Given the description of an element on the screen output the (x, y) to click on. 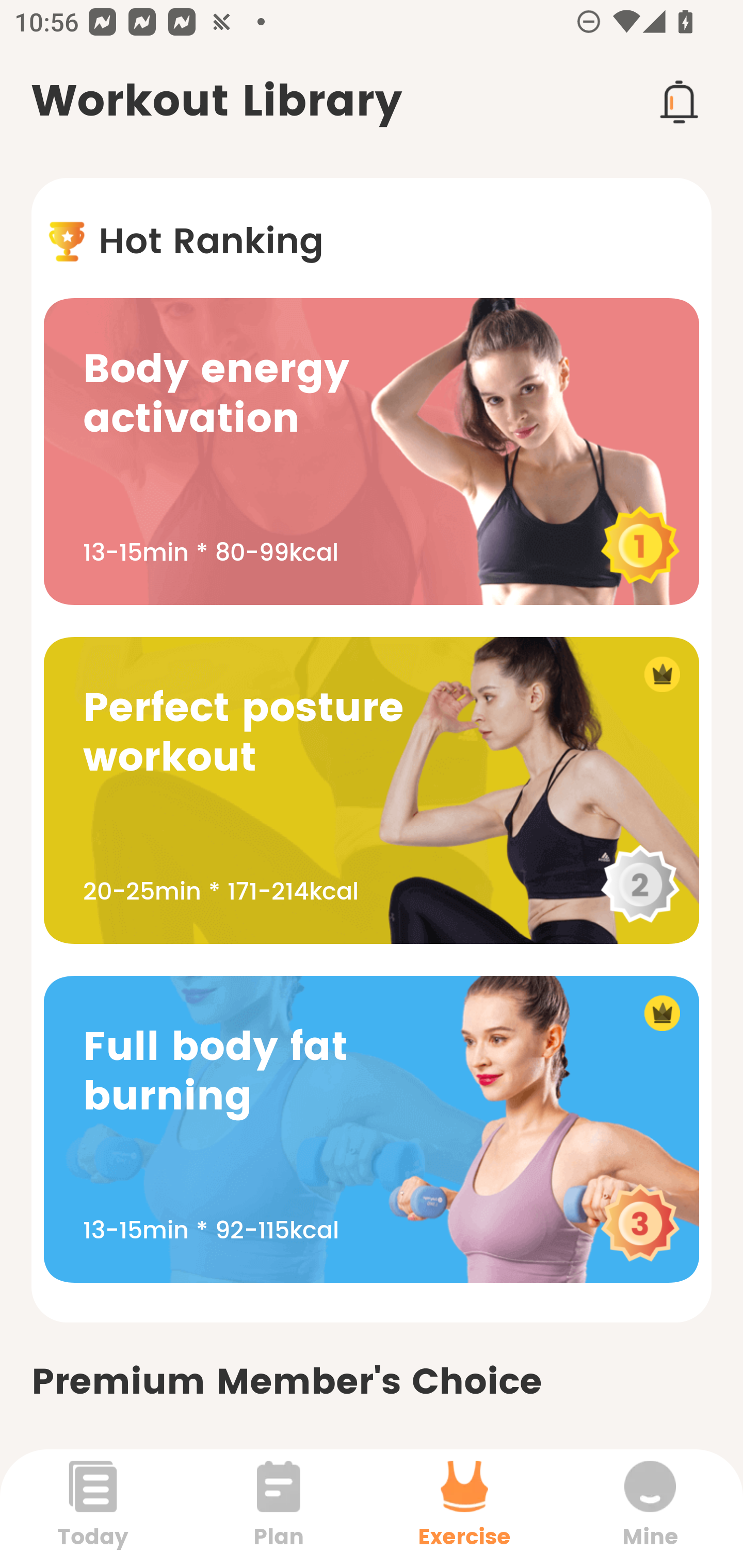
Body energy activation 13-15min * 80-99kcal (371, 451)
Perfect posture workout 20-25min * 171-214kcal (371, 789)
Full body fat burning 13-15min * 92-115kcal (371, 1128)
Today (92, 1508)
Plan (278, 1508)
Mine (650, 1508)
